Given the description of an element on the screen output the (x, y) to click on. 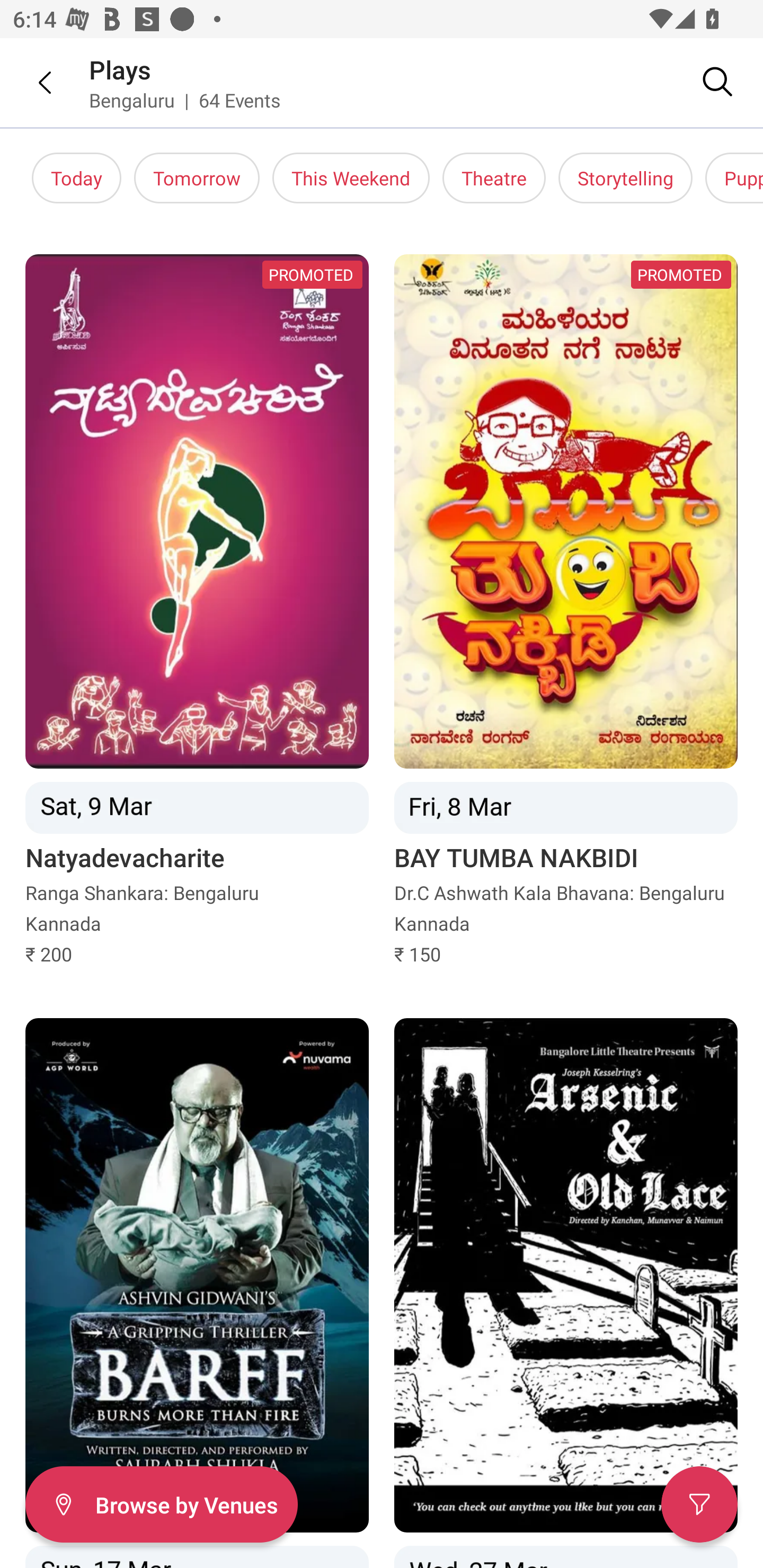
Back (31, 82)
Plays (120, 68)
Bengaluru  |  64 Events (185, 99)
Today (76, 177)
Tomorrow (196, 177)
This Weekend (350, 177)
Theatre (493, 177)
Storytelling (625, 177)
Filter Browse by Venues (161, 1504)
Filter (699, 1504)
